Given the description of an element on the screen output the (x, y) to click on. 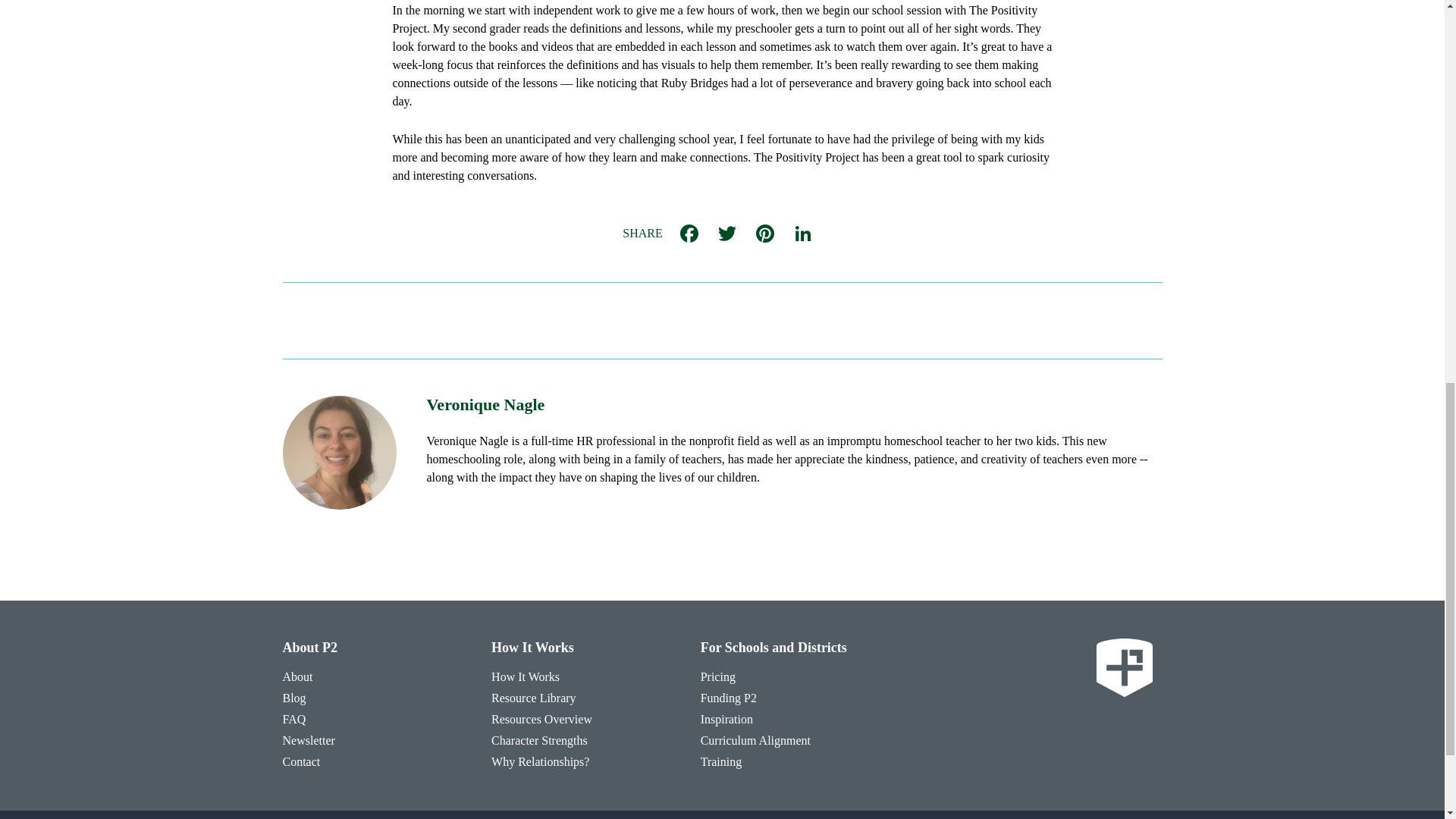
Twitter (726, 233)
Pinterest (764, 233)
LinkedIn (802, 233)
Facebook (689, 233)
